Given the description of an element on the screen output the (x, y) to click on. 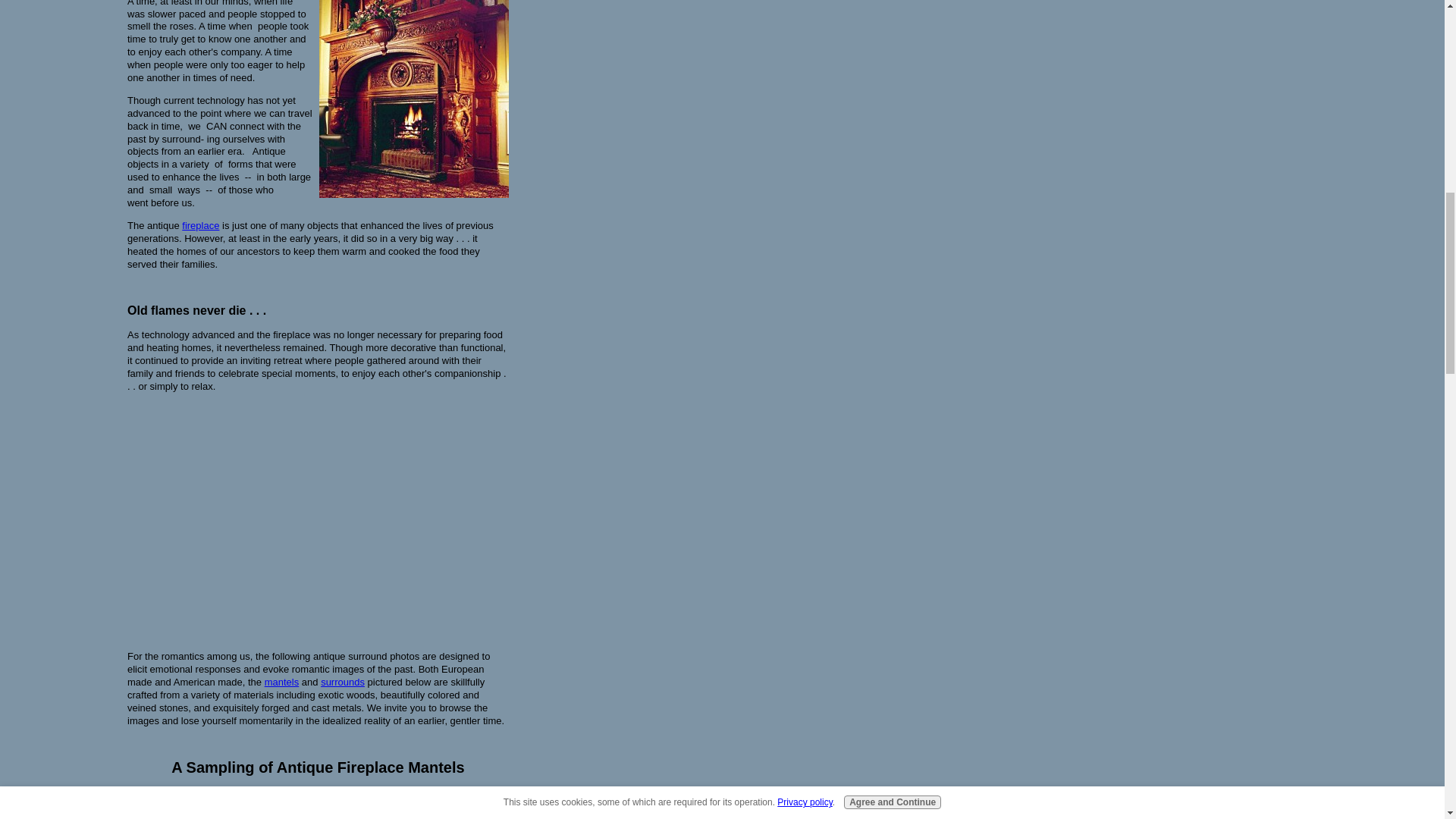
antique fireplace (222, 808)
antique fireplace (413, 808)
fireplace (200, 225)
surrounds (342, 681)
antique fireplace (413, 99)
mantels (281, 681)
